Given the description of an element on the screen output the (x, y) to click on. 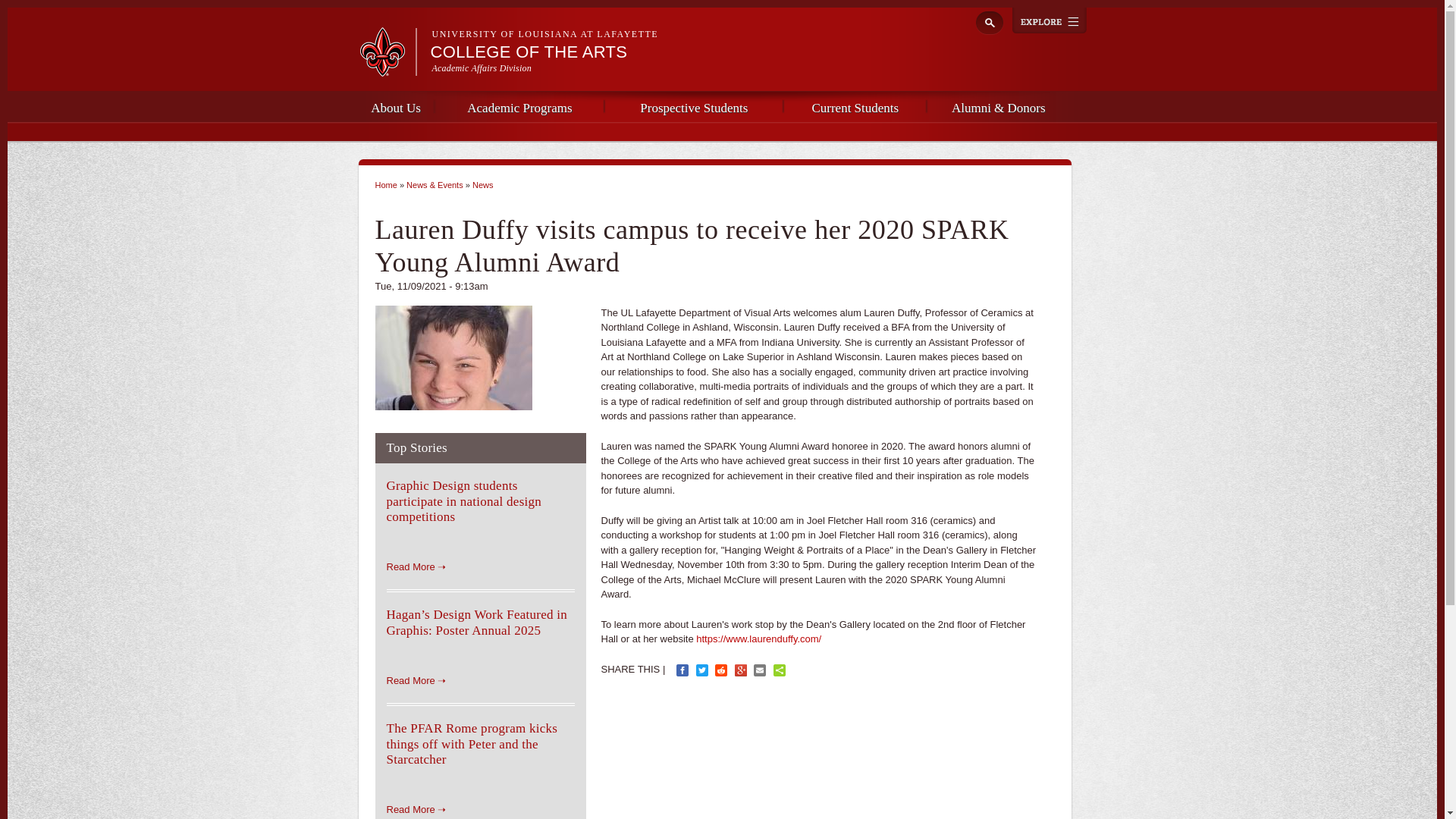
Academic Programs (518, 106)
COLLEGE OF THE ARTS (528, 51)
About Us (395, 106)
UNIVERSITY OF LOUISIANA AT LAFAYETTE (545, 33)
Home (528, 51)
Explore (1048, 20)
Louisiana.edu (387, 69)
Skip to main content (693, 1)
Academic Affairs Division (481, 68)
